Given the description of an element on the screen output the (x, y) to click on. 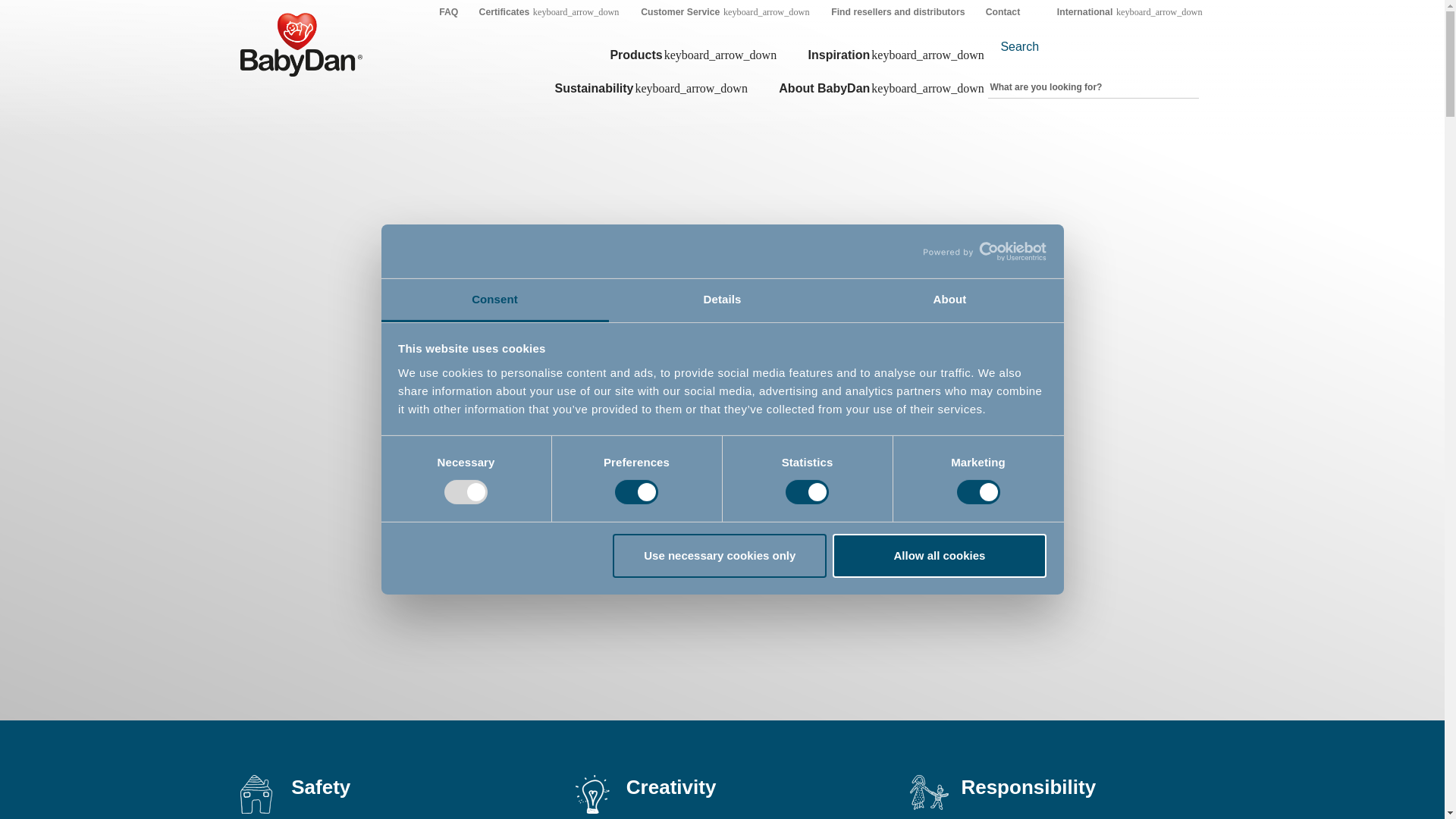
Details (721, 300)
Consent (494, 300)
About (948, 300)
